Given the description of an element on the screen output the (x, y) to click on. 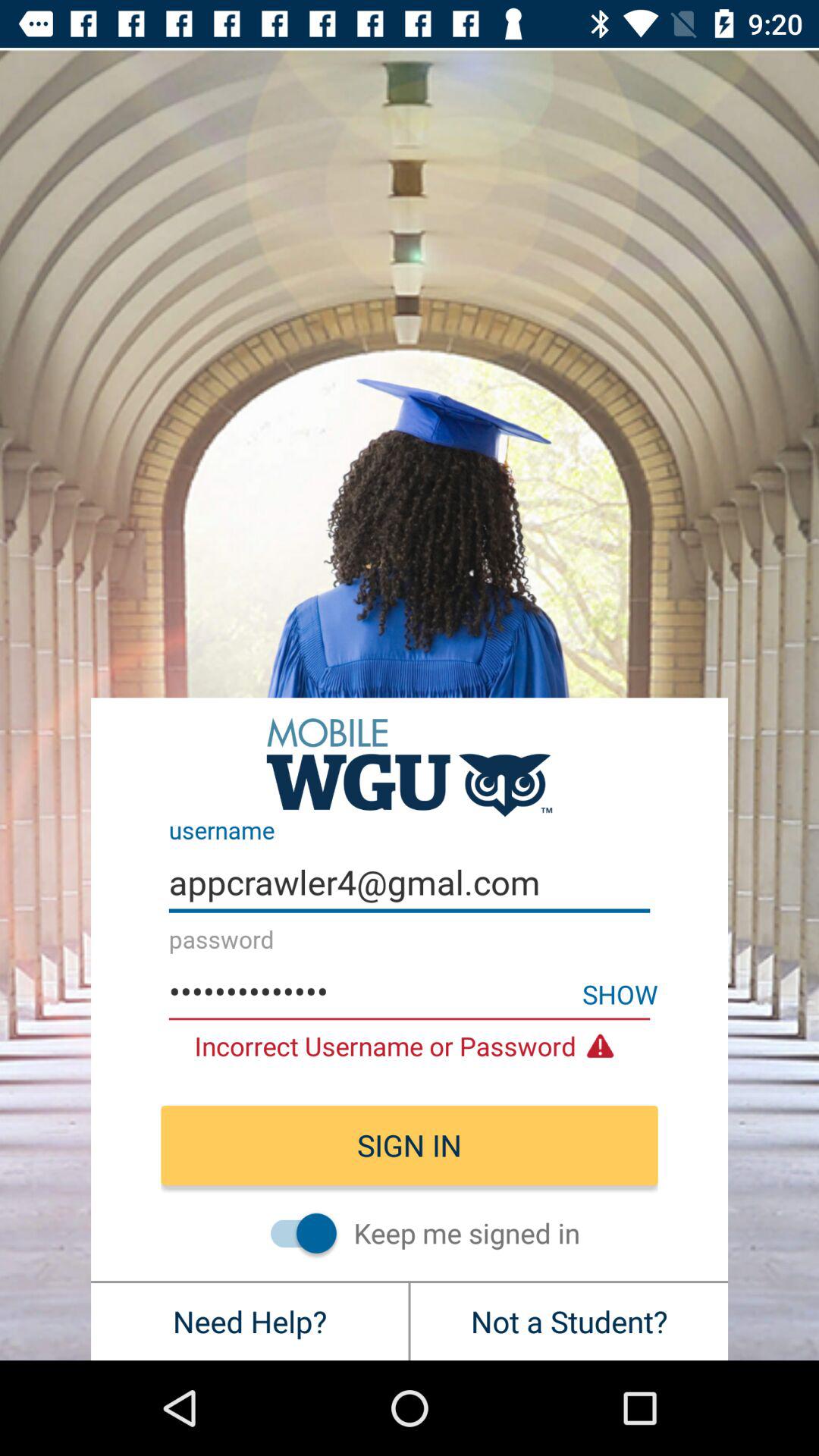
launch icon above appcrawler3116 icon (409, 882)
